Given the description of an element on the screen output the (x, y) to click on. 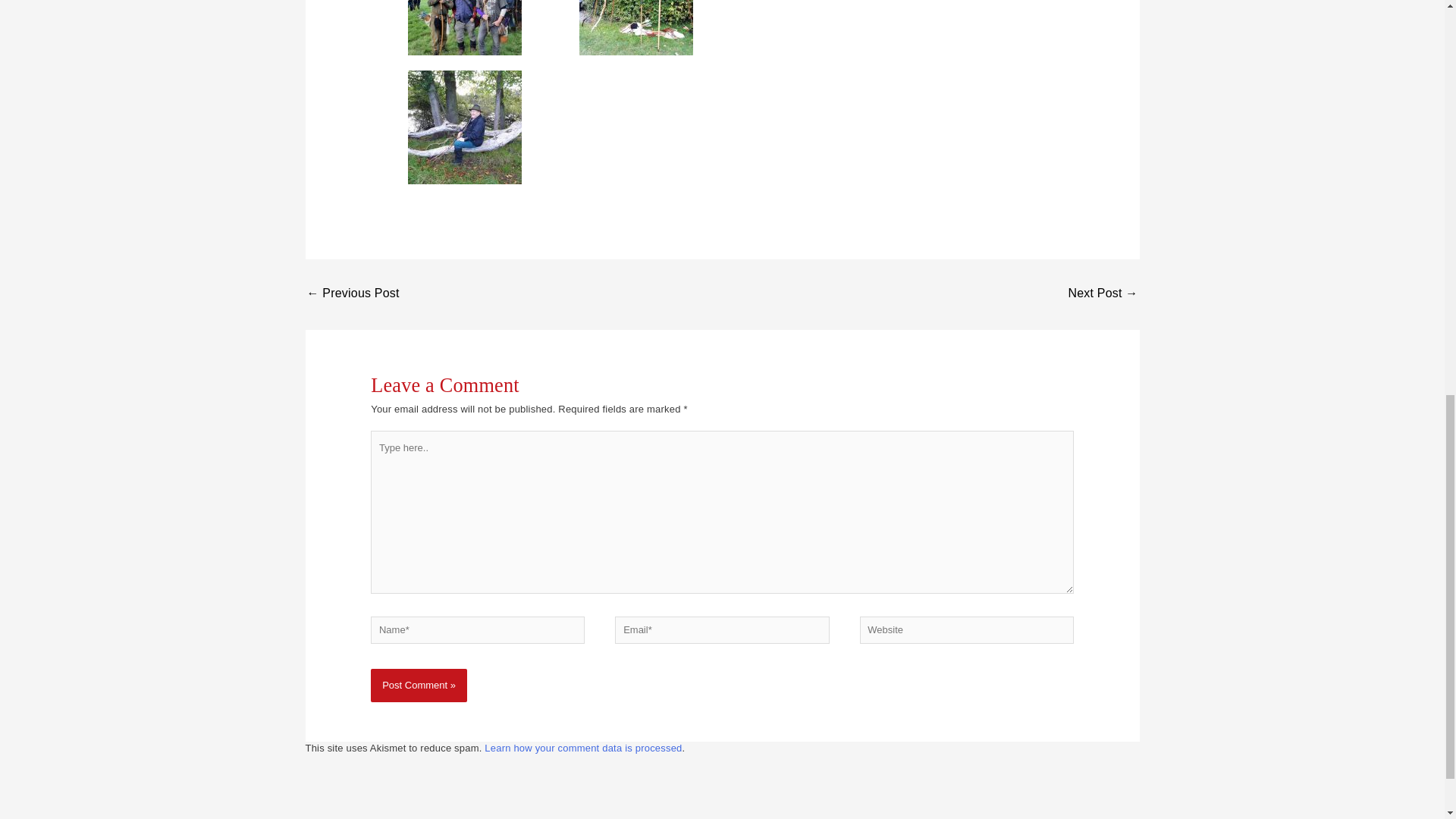
Flodden Marks (351, 294)
Unbelievable Rove... (1102, 294)
